Given the description of an element on the screen output the (x, y) to click on. 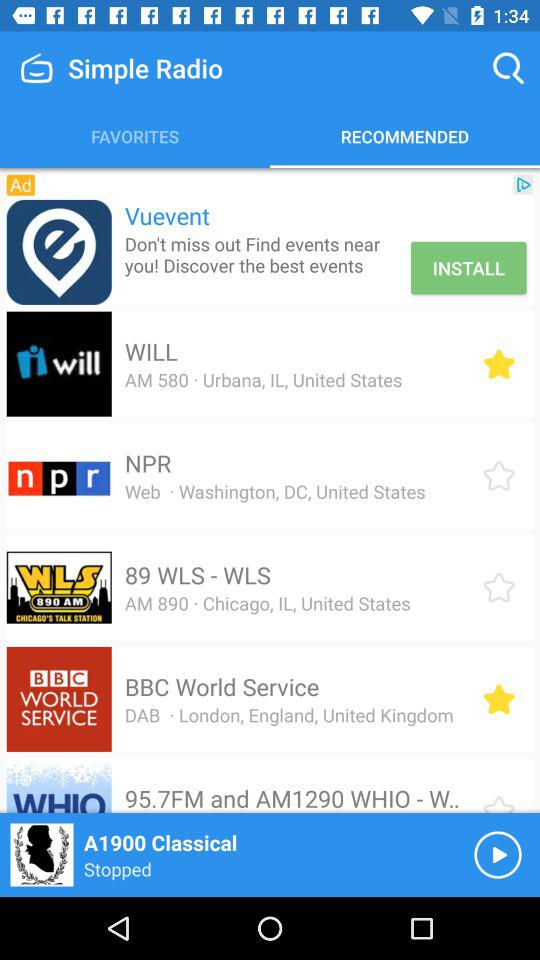
turn on icon above 95 7fm and item (288, 714)
